Given the description of an element on the screen output the (x, y) to click on. 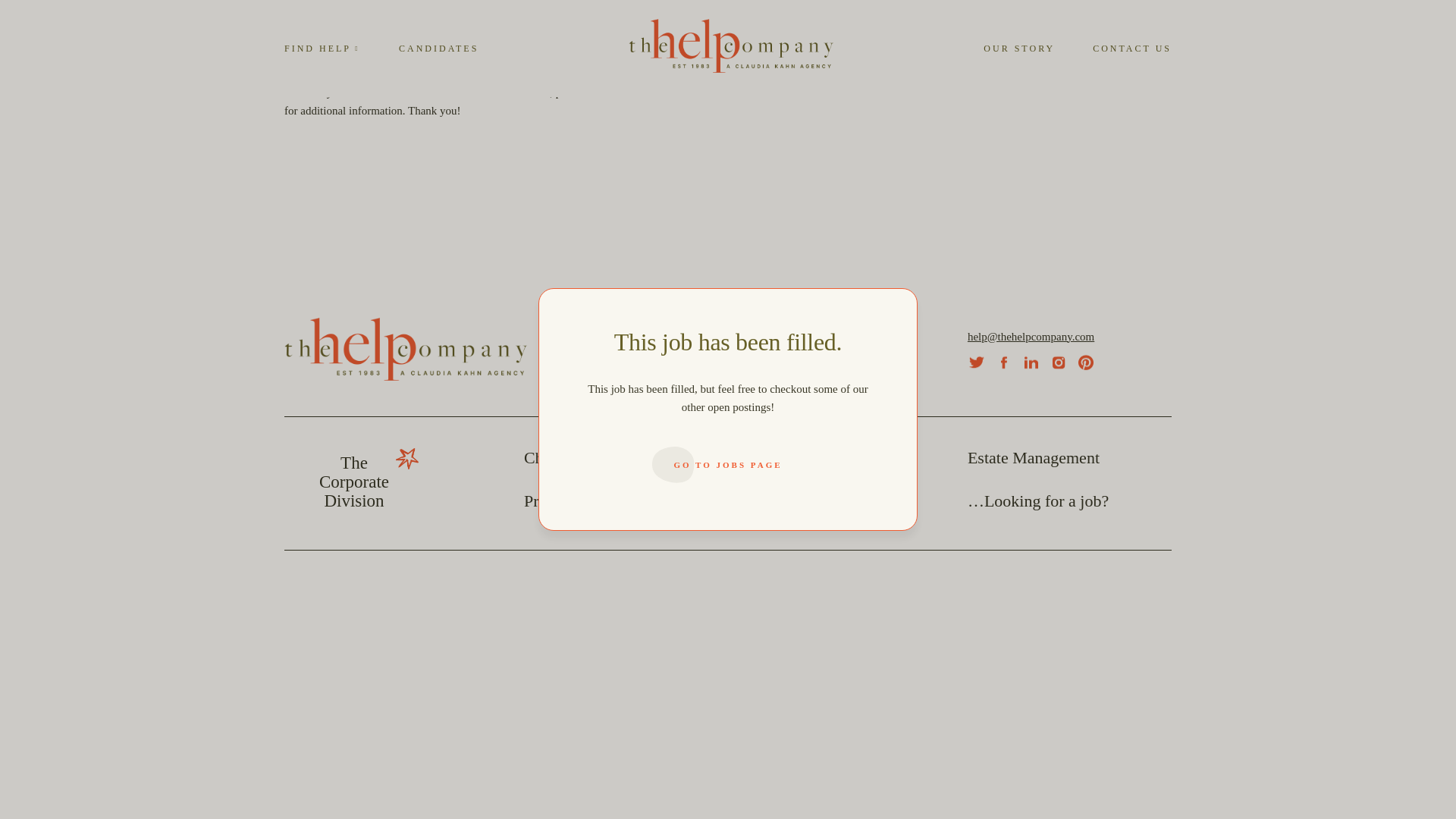
Child Care (560, 456)
GO TO JOBS PAGE (815, 7)
GO TO JOBS PAGE (353, 481)
